Given the description of an element on the screen output the (x, y) to click on. 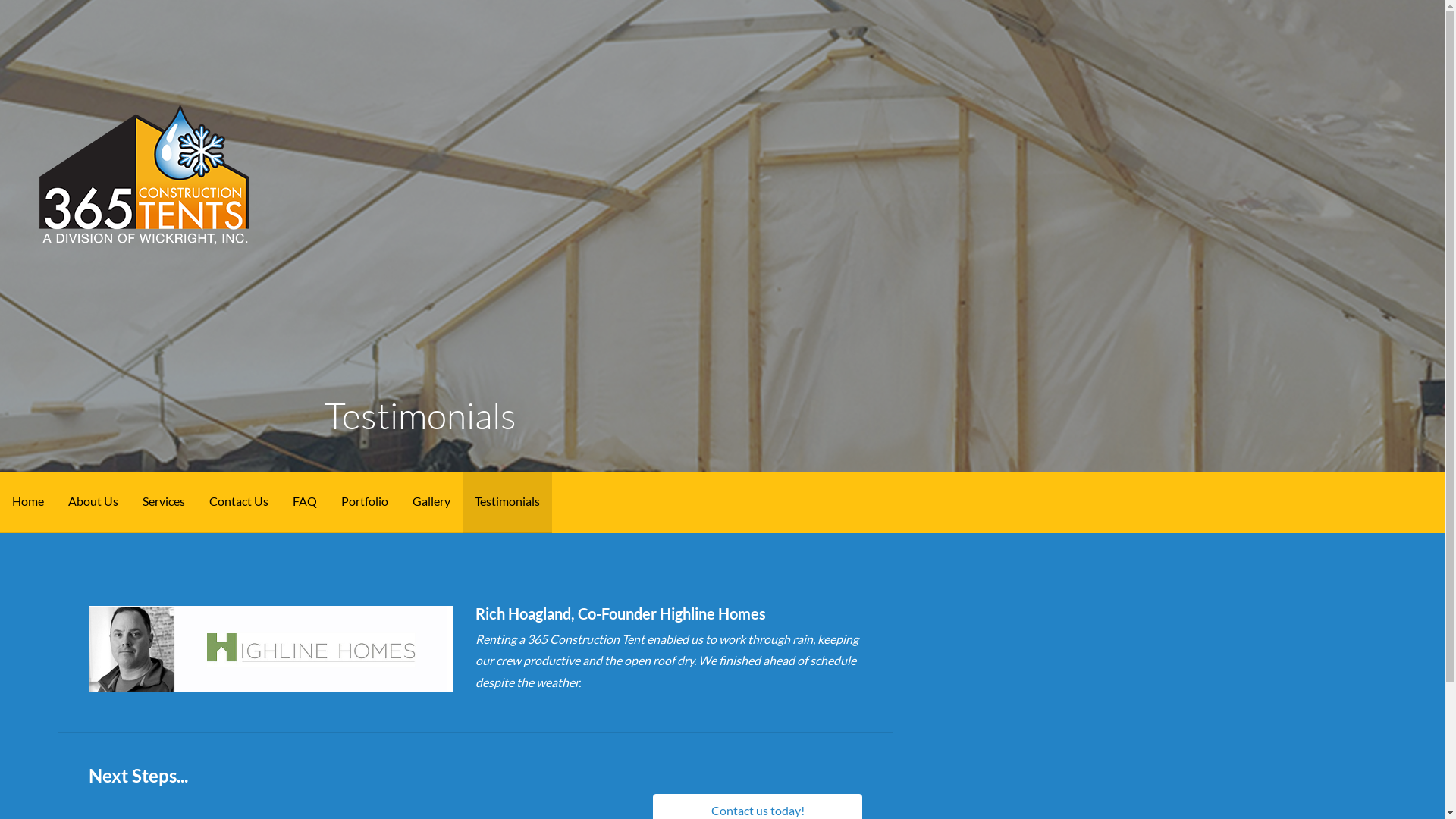
Home Element type: text (28, 502)
Services Element type: text (163, 502)
About Us Element type: text (93, 502)
Contact Us Element type: text (238, 502)
FAQ Element type: text (304, 502)
Gallery Element type: text (431, 502)
Testimonials Element type: text (507, 502)
Portfolio Element type: text (364, 502)
